Given the description of an element on the screen output the (x, y) to click on. 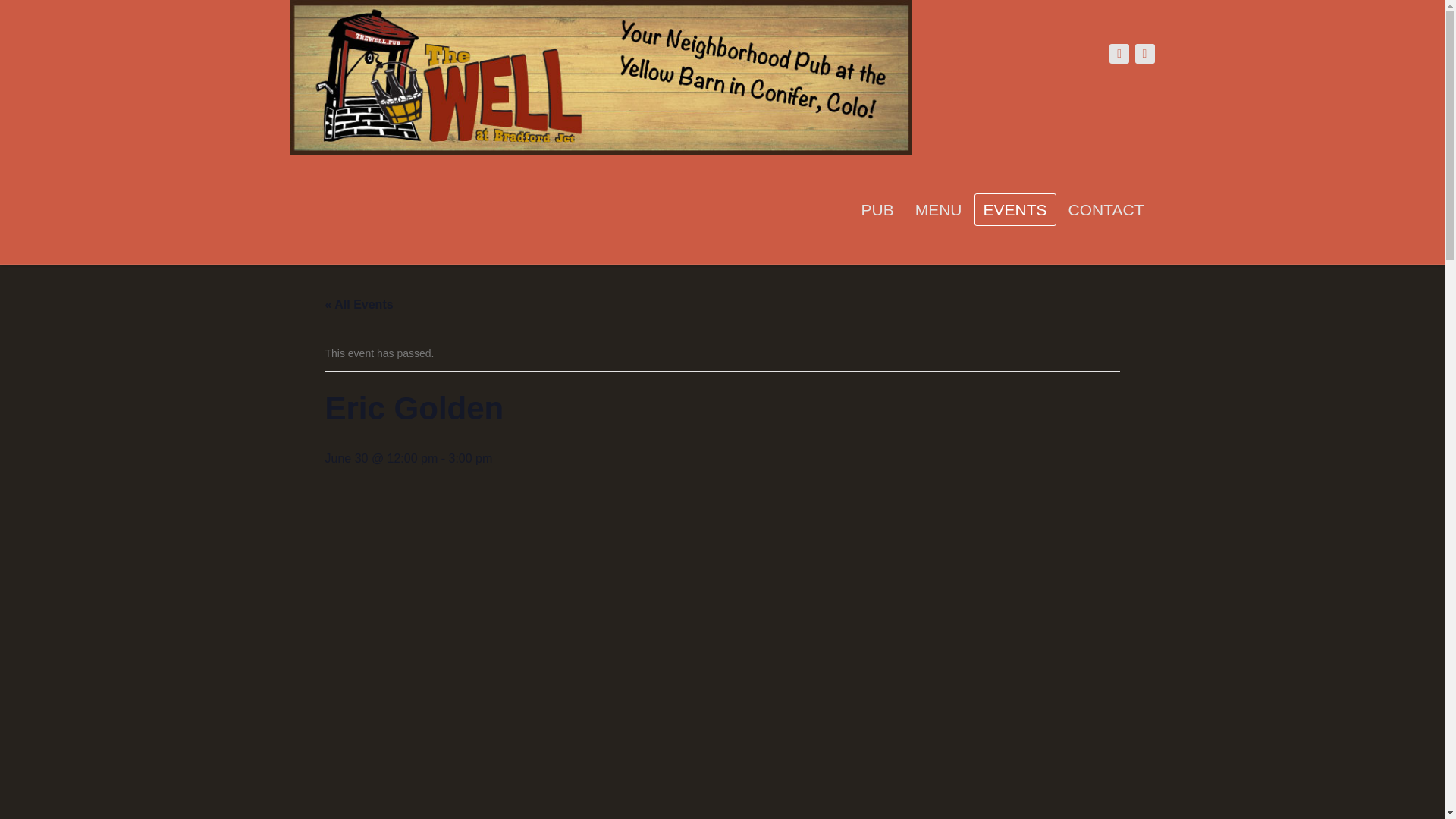
EVENTS (1015, 209)
PUB (876, 209)
MENU (938, 209)
CONTACT (1106, 209)
